Given the description of an element on the screen output the (x, y) to click on. 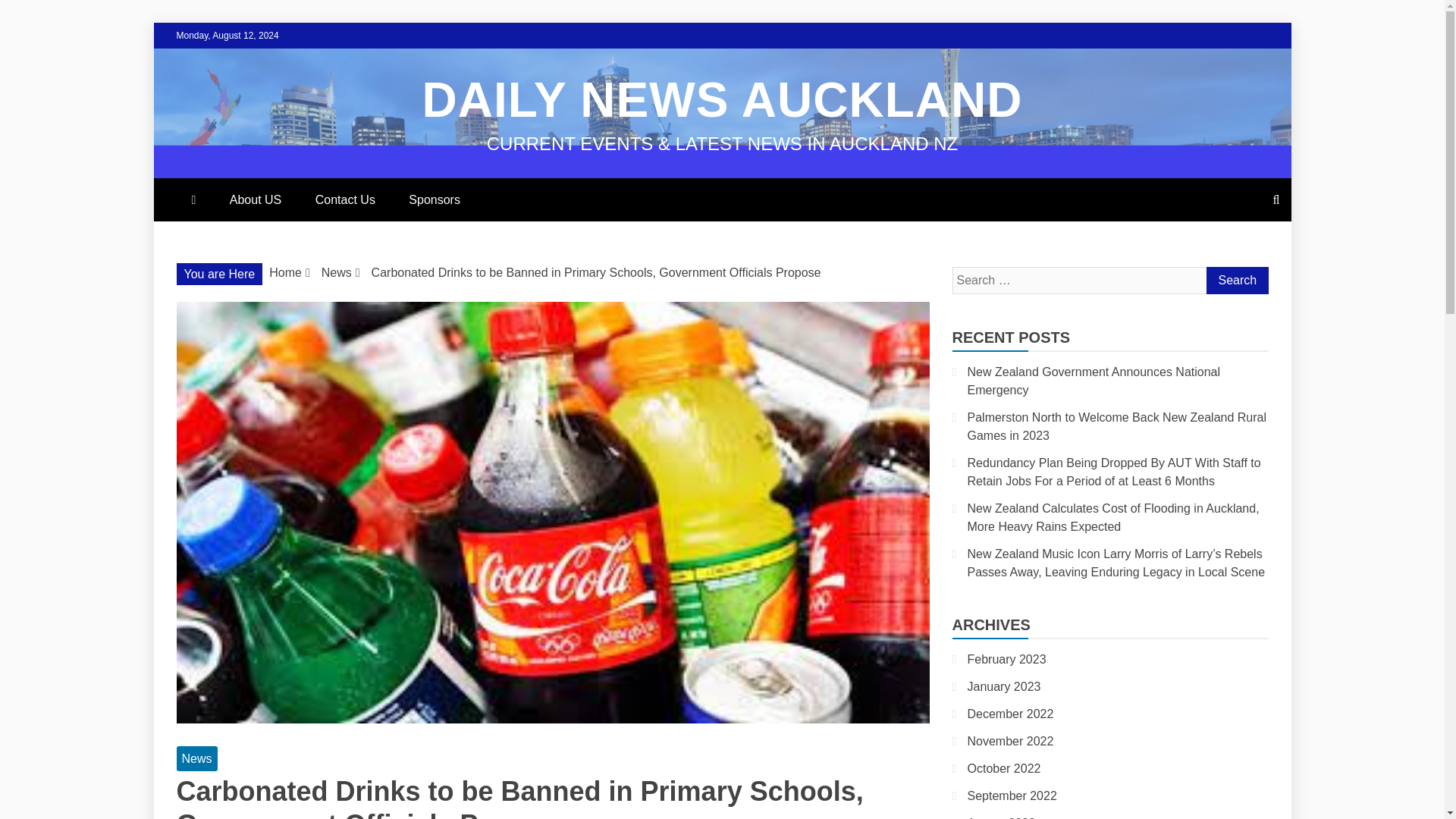
Search (1236, 280)
DAILY NEWS AUCKLAND (722, 99)
Search (1236, 280)
About US (255, 199)
News (196, 758)
News (336, 272)
December 2022 (1011, 713)
Search (1236, 280)
New Zealand Government Announces National Emergency (1094, 380)
